Given the description of an element on the screen output the (x, y) to click on. 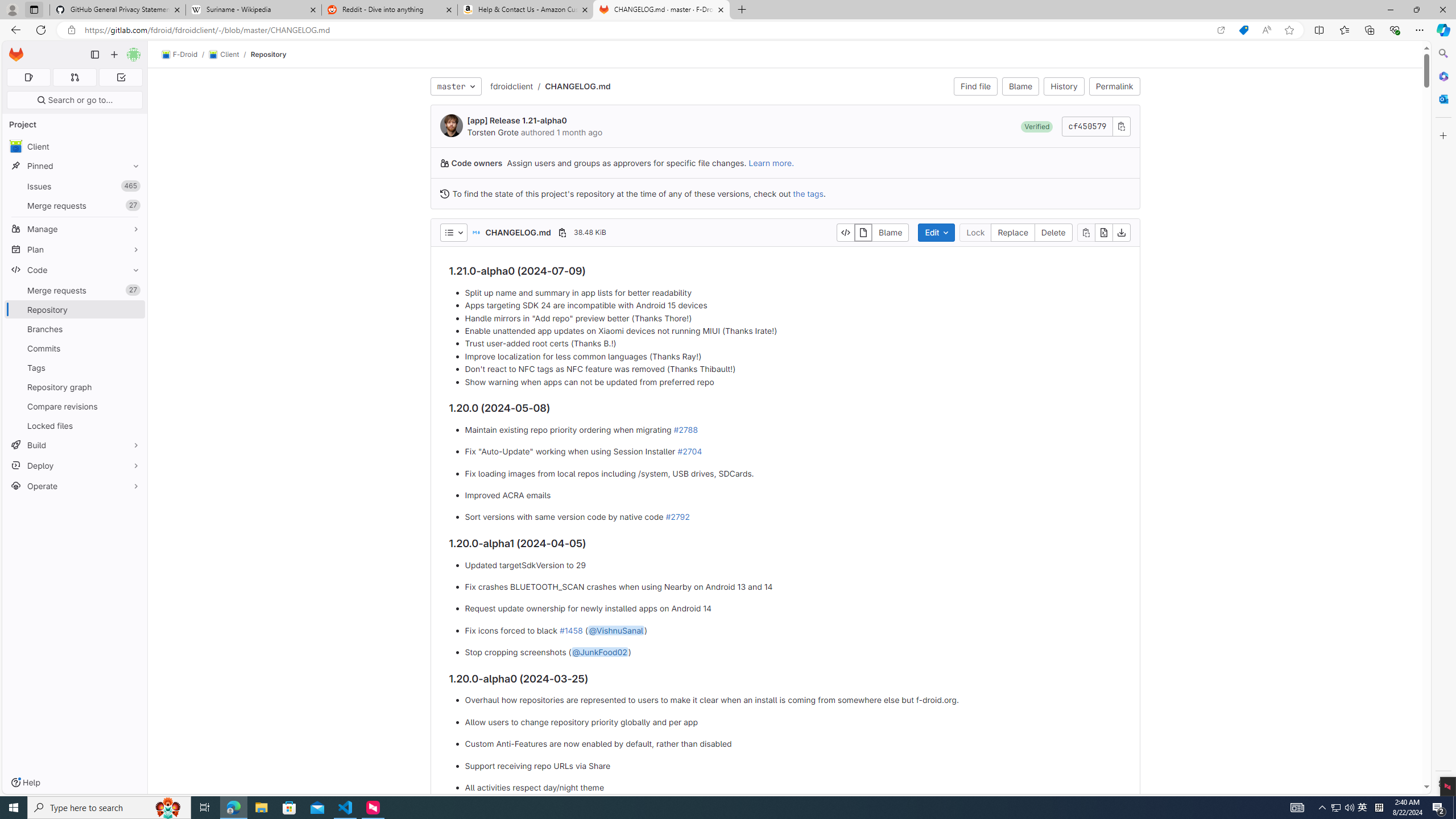
fdroidclient (510, 85)
Unpin Merge requests (132, 290)
Suriname - Wikipedia (253, 9)
Copy file contents (1084, 232)
Permalink (1114, 85)
Client (74, 145)
avatar (15, 146)
Merge requests 27 (74, 289)
